Given the description of an element on the screen output the (x, y) to click on. 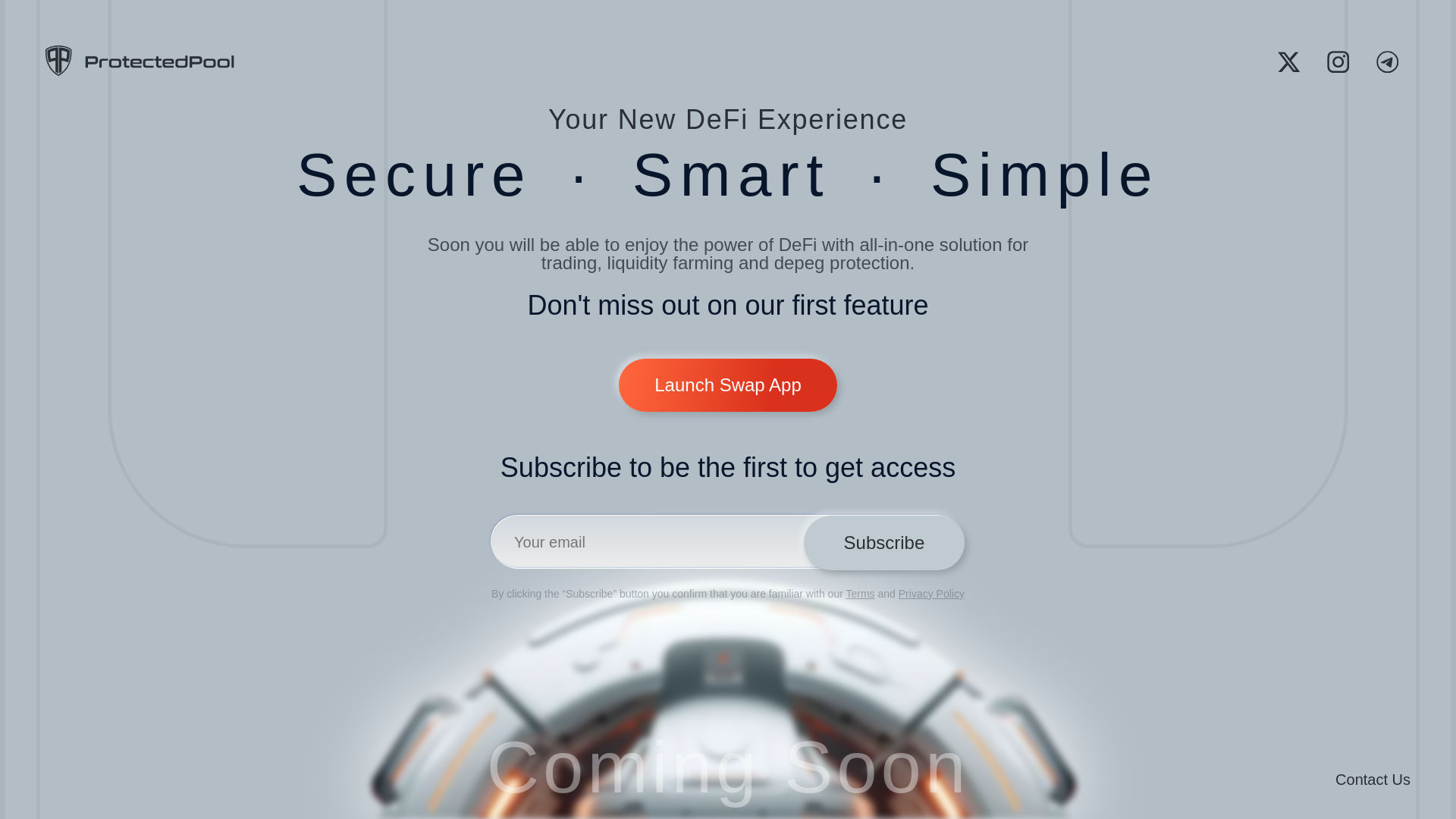
Privacy Policy (930, 593)
Subscribe (883, 542)
Contact Us (1372, 779)
Launch Swap App (727, 366)
Terms (860, 593)
Launch Swap App (727, 384)
